Given the description of an element on the screen output the (x, y) to click on. 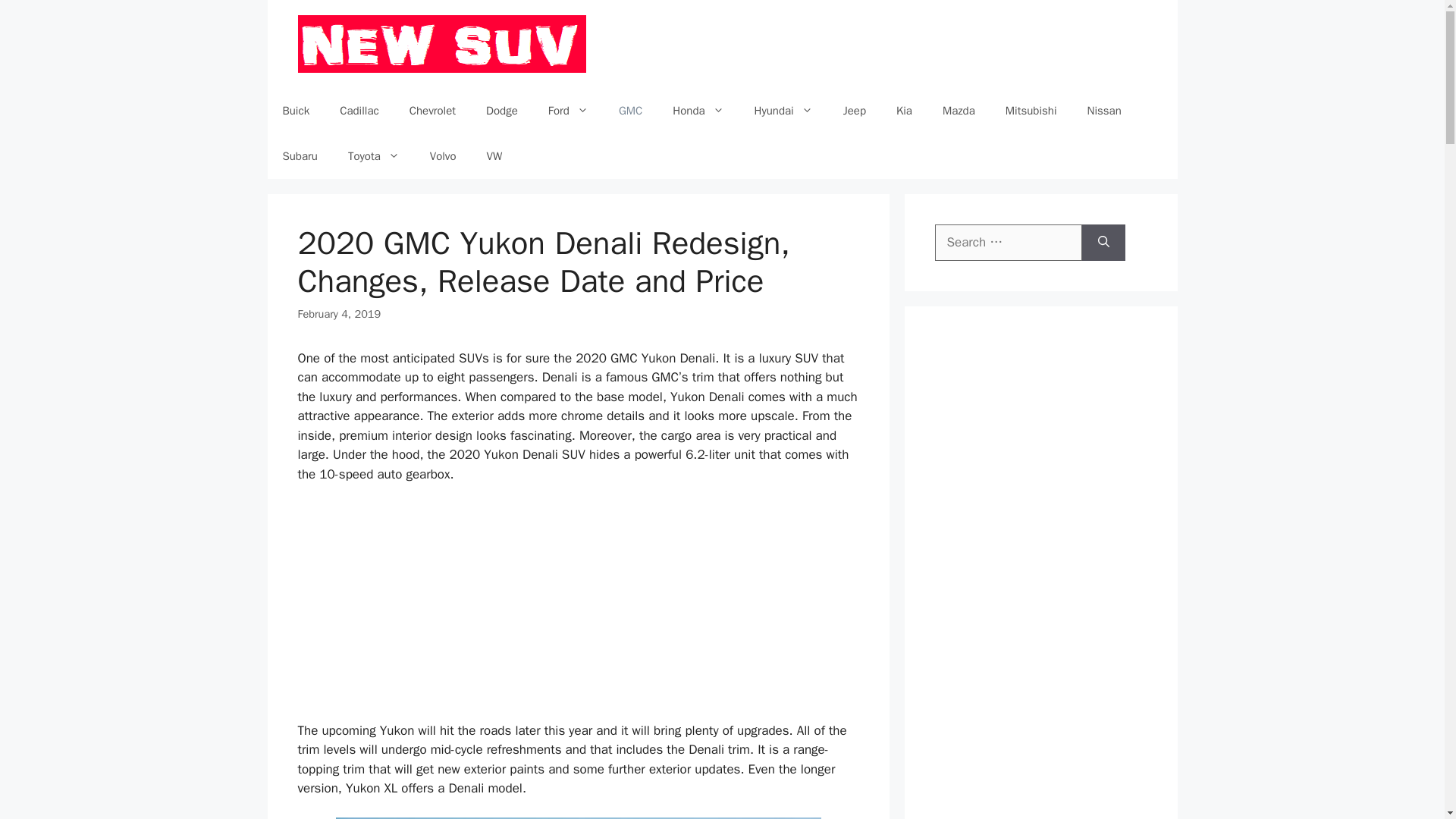
GMC (631, 110)
Mazda (958, 110)
Dodge (501, 110)
Volvo (442, 156)
Chevrolet (432, 110)
VW (494, 156)
Hyundai (783, 110)
Toyota (373, 156)
Mitsubishi (1030, 110)
Nissan (1104, 110)
Honda (698, 110)
Cadillac (359, 110)
Kia (903, 110)
Buick (295, 110)
Ford (568, 110)
